Given the description of an element on the screen output the (x, y) to click on. 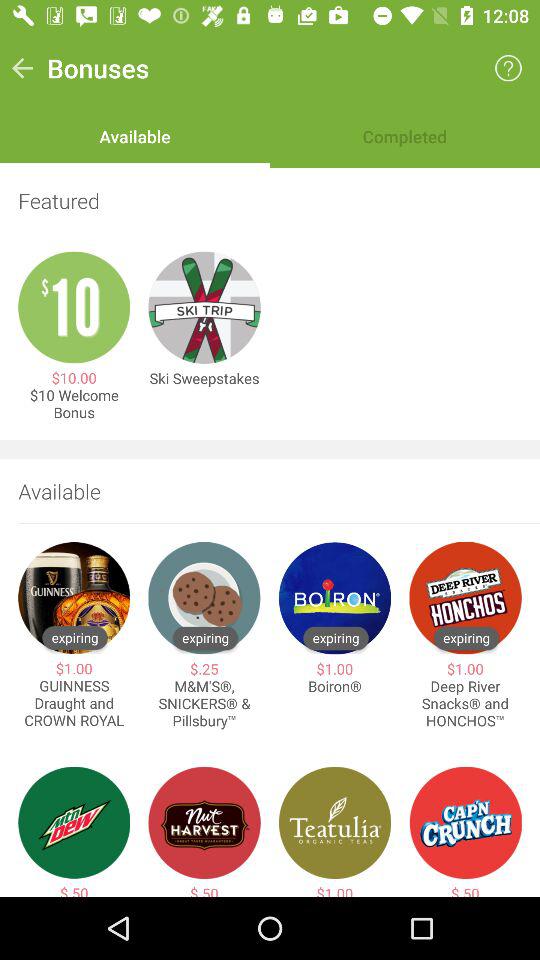
click the button which is next to the boiron (465, 597)
click on the text right to left arrow (97, 68)
